Given the description of an element on the screen output the (x, y) to click on. 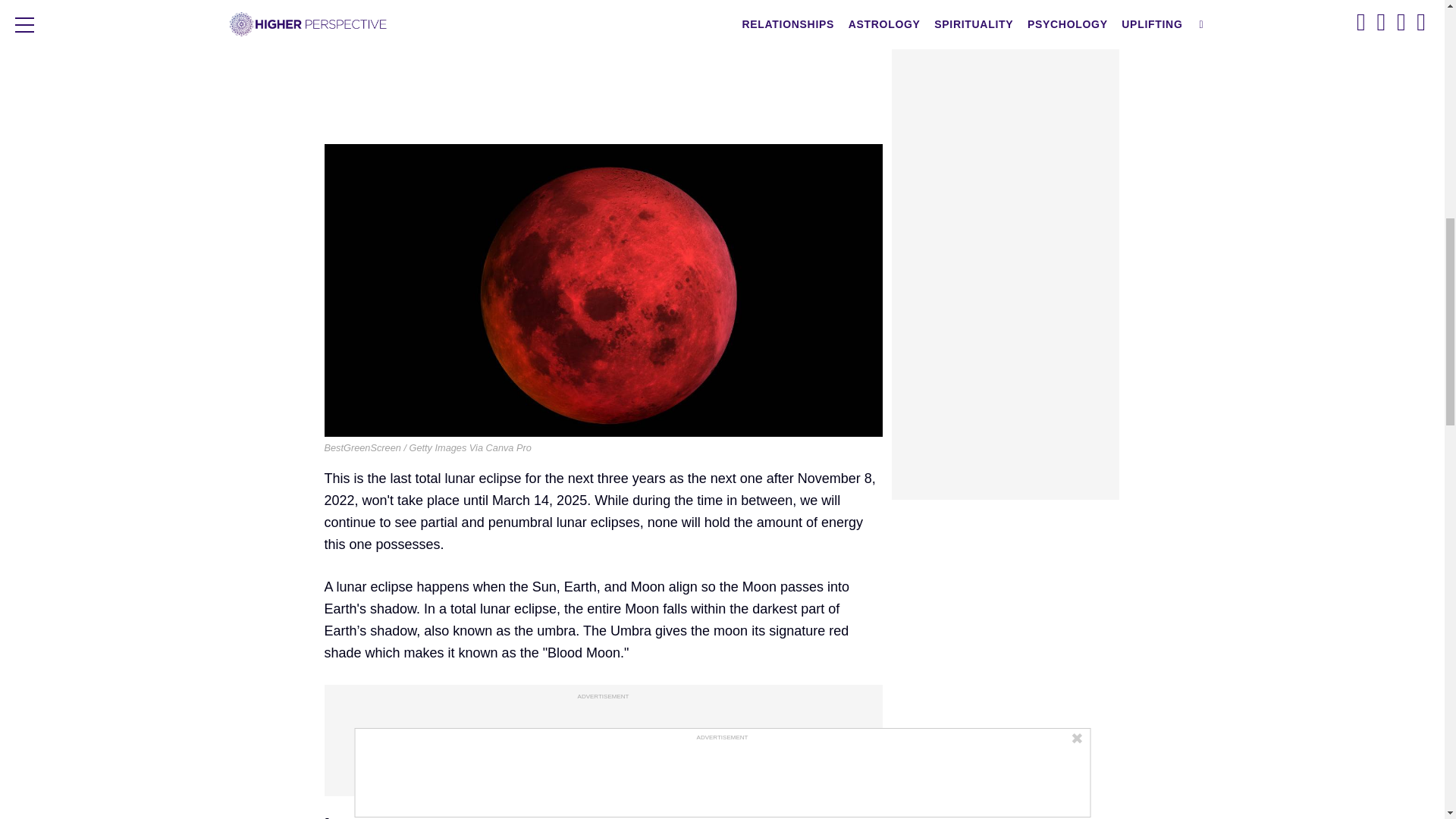
3rd party ad content (603, 743)
